Given the description of an element on the screen output the (x, y) to click on. 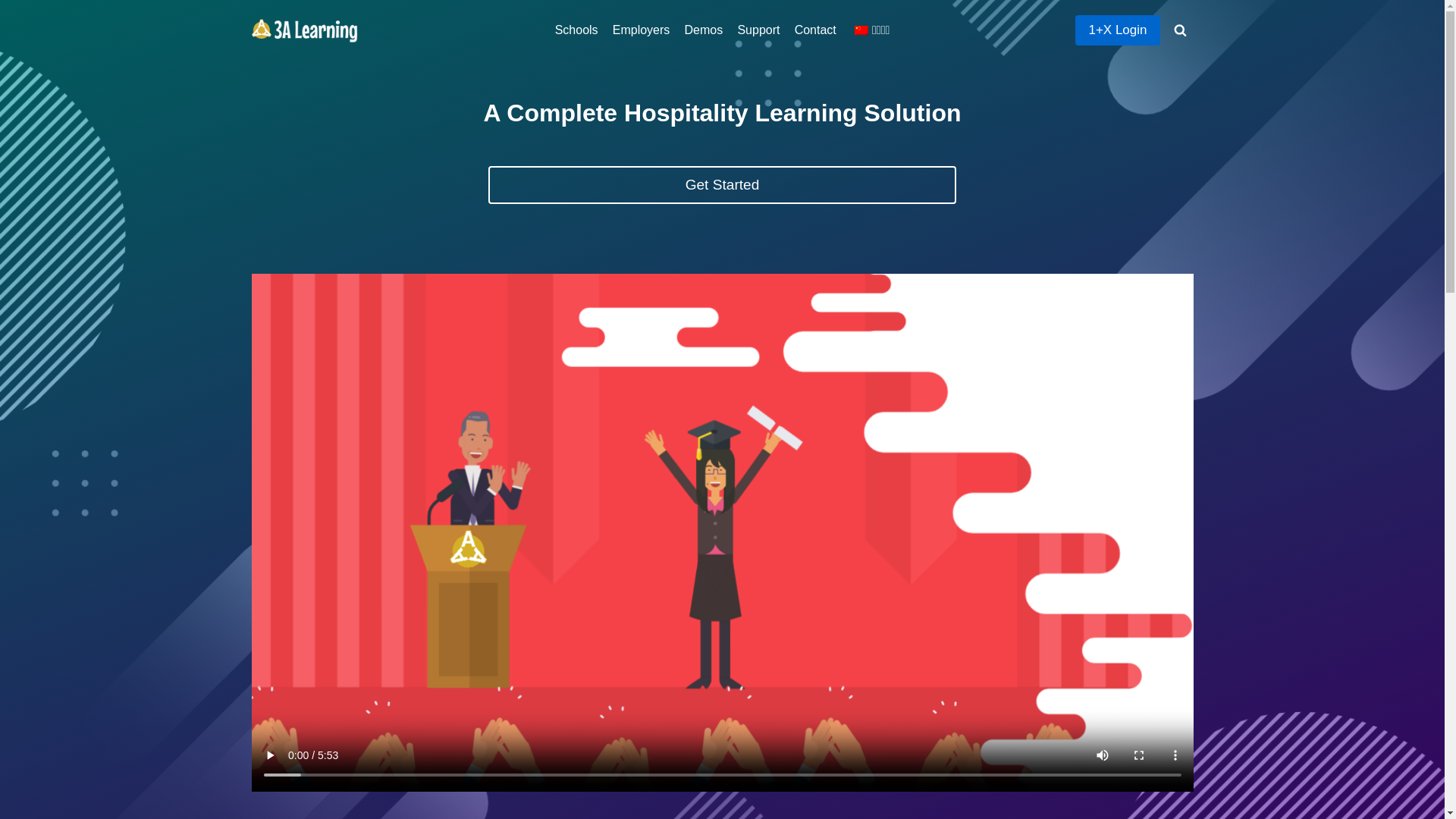
Contact Element type: text (815, 30)
Employers Element type: text (641, 30)
Get Started Element type: text (722, 184)
1+X Login Element type: text (1117, 30)
Support Element type: text (758, 30)
Demos Element type: text (703, 30)
Schools Element type: text (576, 30)
